Given the description of an element on the screen output the (x, y) to click on. 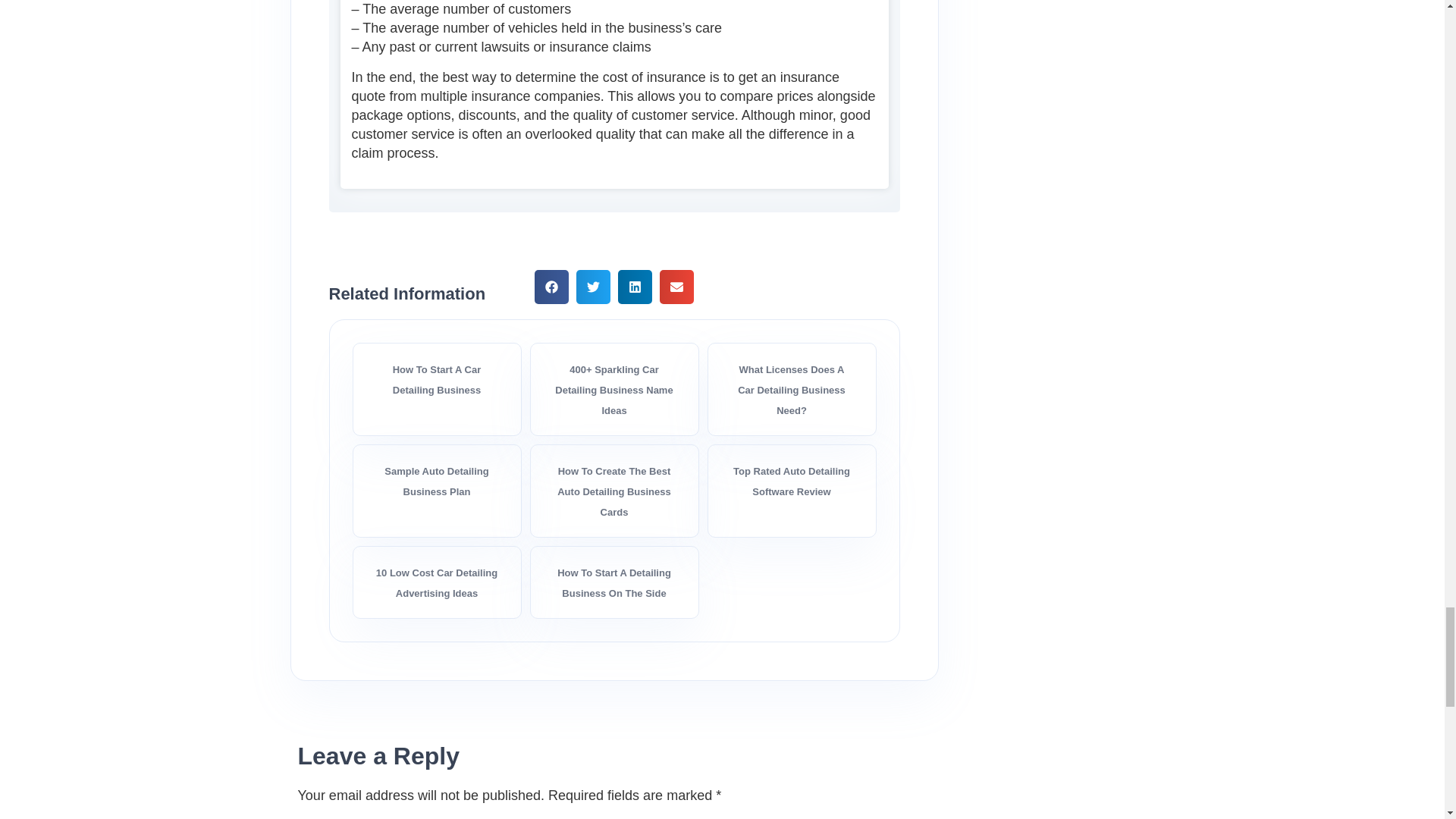
10 Low Cost Car Detailing Advertising Ideas (436, 582)
What Licenses Does A Car Detailing Business Need? (791, 389)
Top Rated Auto Detailing Software Review (791, 481)
How To Start A Car Detailing Business (437, 379)
How To Start A Detailing Business On The Side (614, 582)
How To Create The Best Auto Detailing Business Cards (614, 491)
Sample Auto Detailing Business Plan (435, 481)
